Given the description of an element on the screen output the (x, y) to click on. 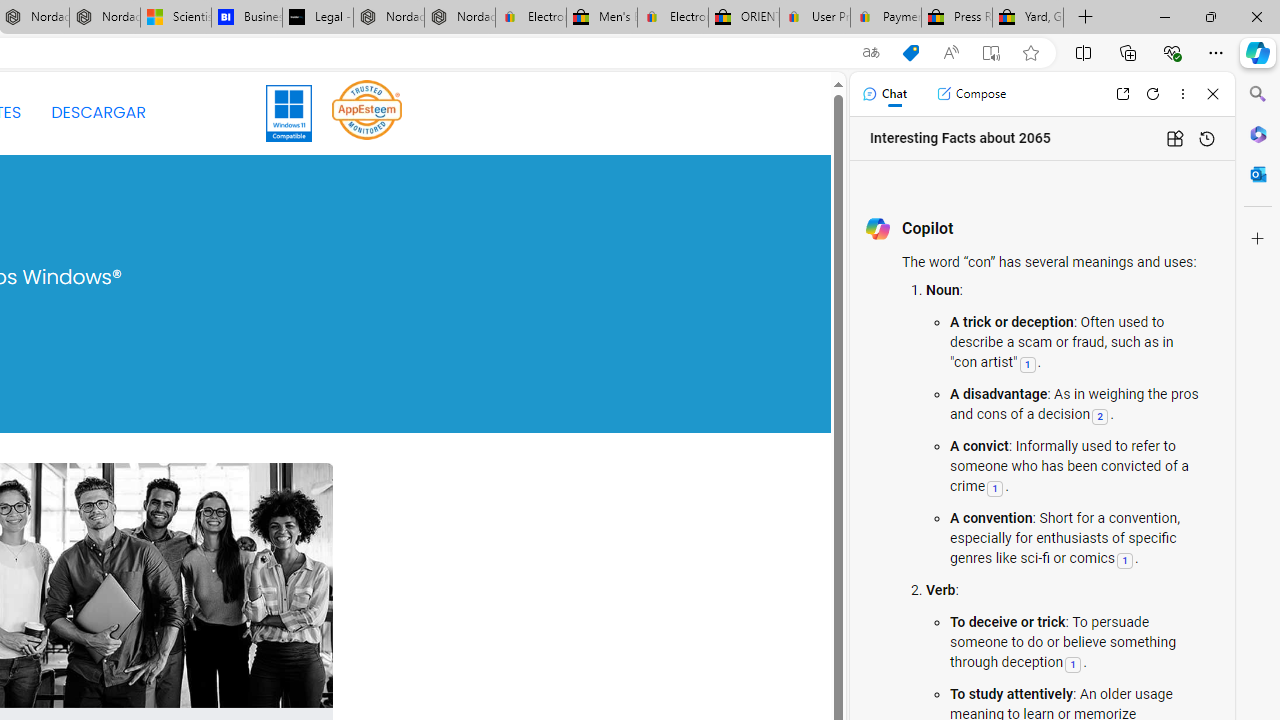
Chat (884, 93)
DESCARGAR (98, 112)
Windows 11 (289, 112)
Nordace - Summer Adventures 2024 (388, 17)
App Esteem (367, 109)
